Given the description of an element on the screen output the (x, y) to click on. 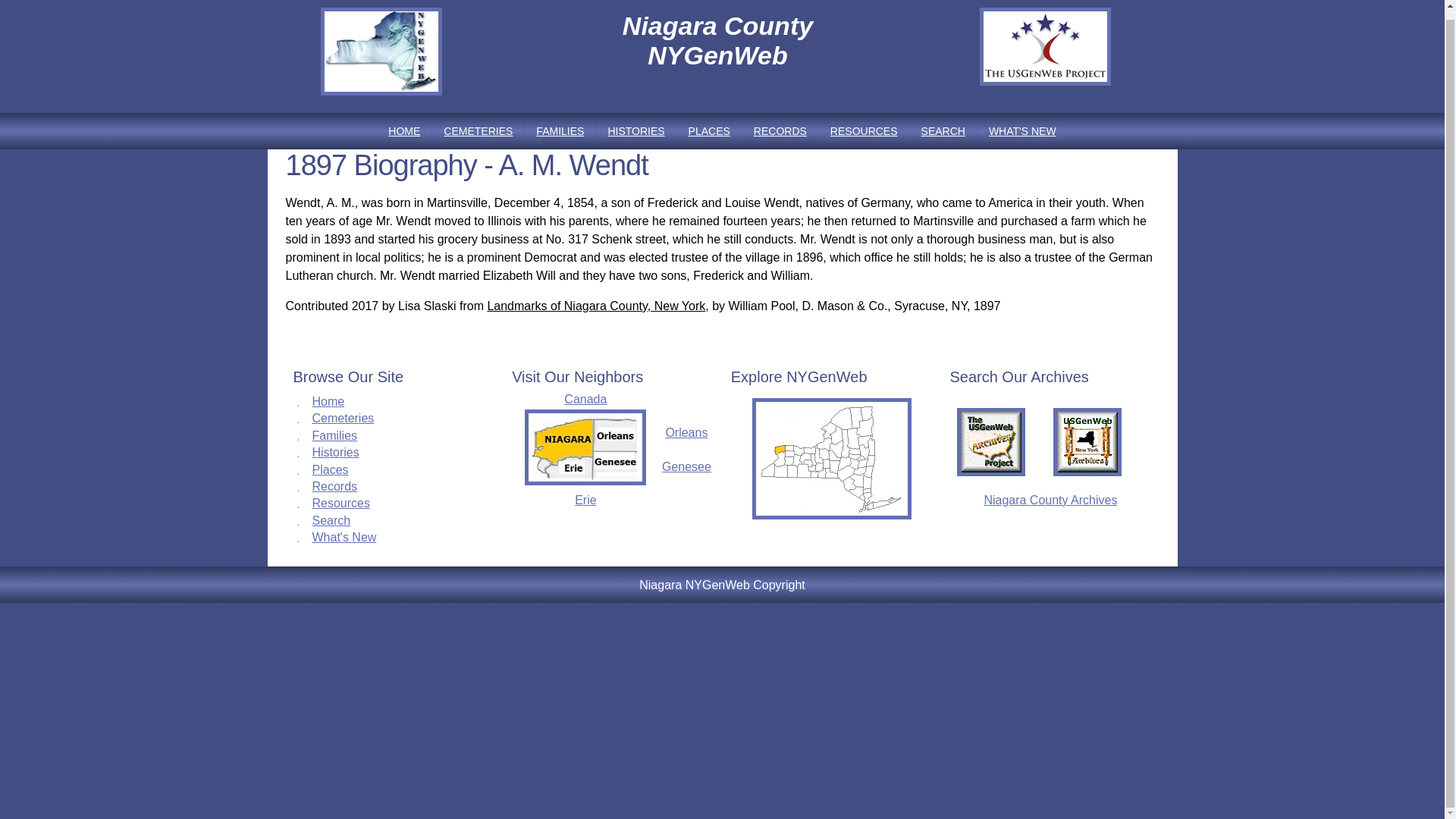
Niagara County Archives (1050, 499)
Records (335, 486)
Search (331, 520)
RESOURCES (863, 131)
Families (335, 435)
Histories (336, 451)
Erie (585, 499)
HISTORIES (635, 131)
FAMILIES (559, 131)
PLACES (709, 131)
